Given the description of an element on the screen output the (x, y) to click on. 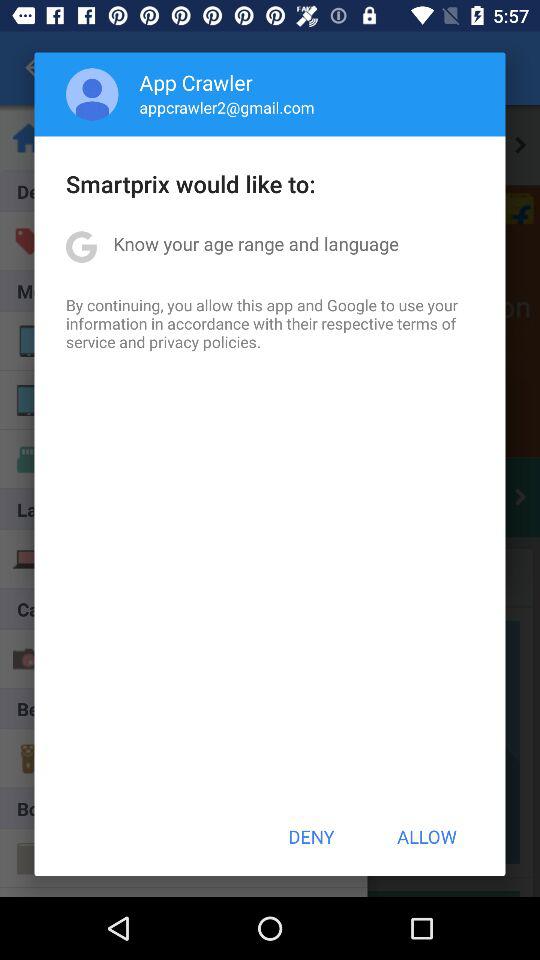
click icon below by continuing you (311, 836)
